Given the description of an element on the screen output the (x, y) to click on. 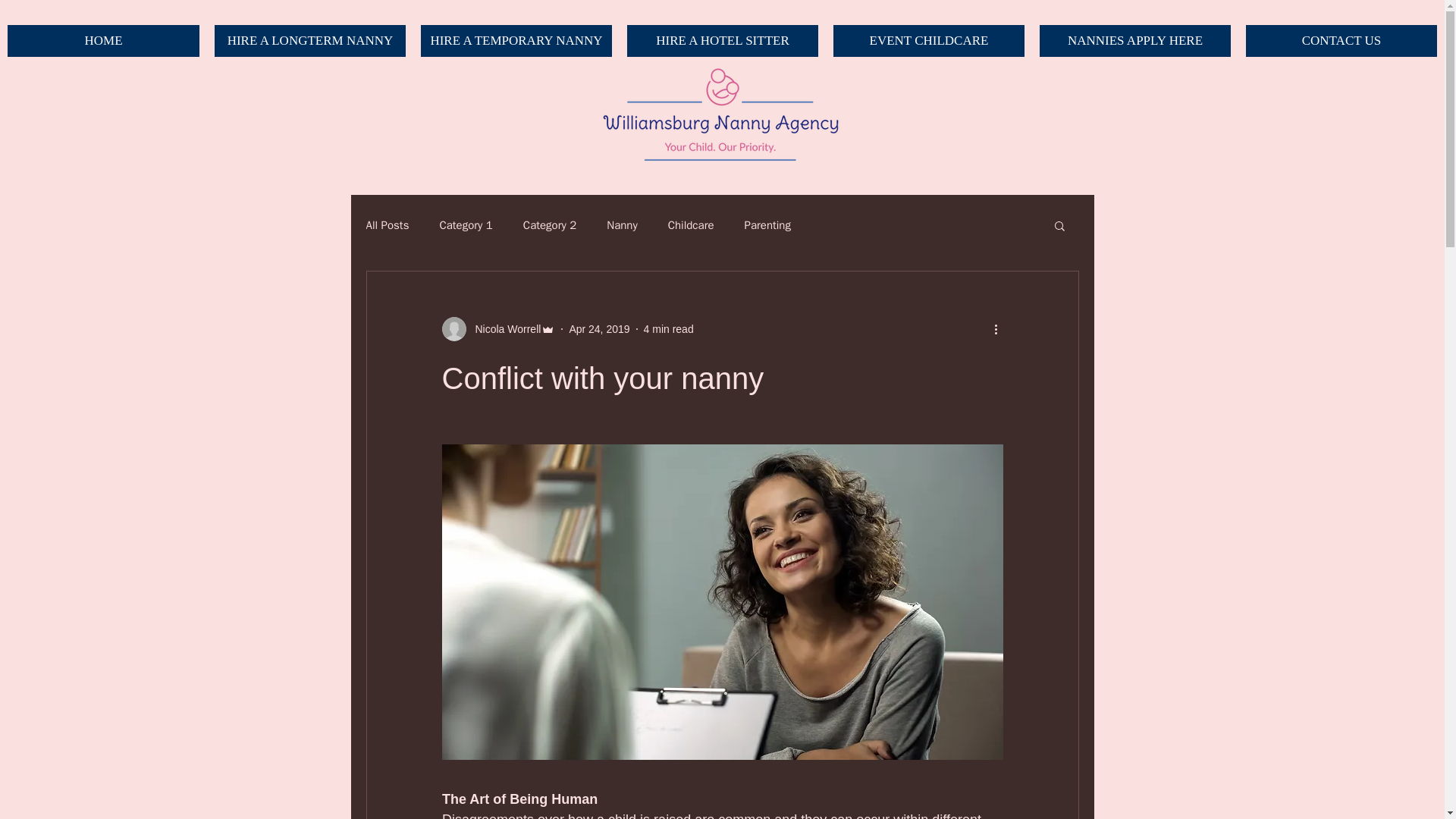
HIRE A HOTEL SITTER (722, 40)
Category 1 (465, 225)
Category 2 (549, 225)
Parenting (767, 225)
HOME (103, 40)
EVENT CHILDCARE (928, 40)
Nicola Worrell (502, 329)
HIRE A LONGTERM NANNY (310, 40)
Apr 24, 2019 (598, 328)
Nicola Worrell (497, 328)
Nanny (622, 225)
4 min read (668, 328)
All Posts (387, 225)
CONTACT US (1341, 40)
Childcare (691, 225)
